Given the description of an element on the screen output the (x, y) to click on. 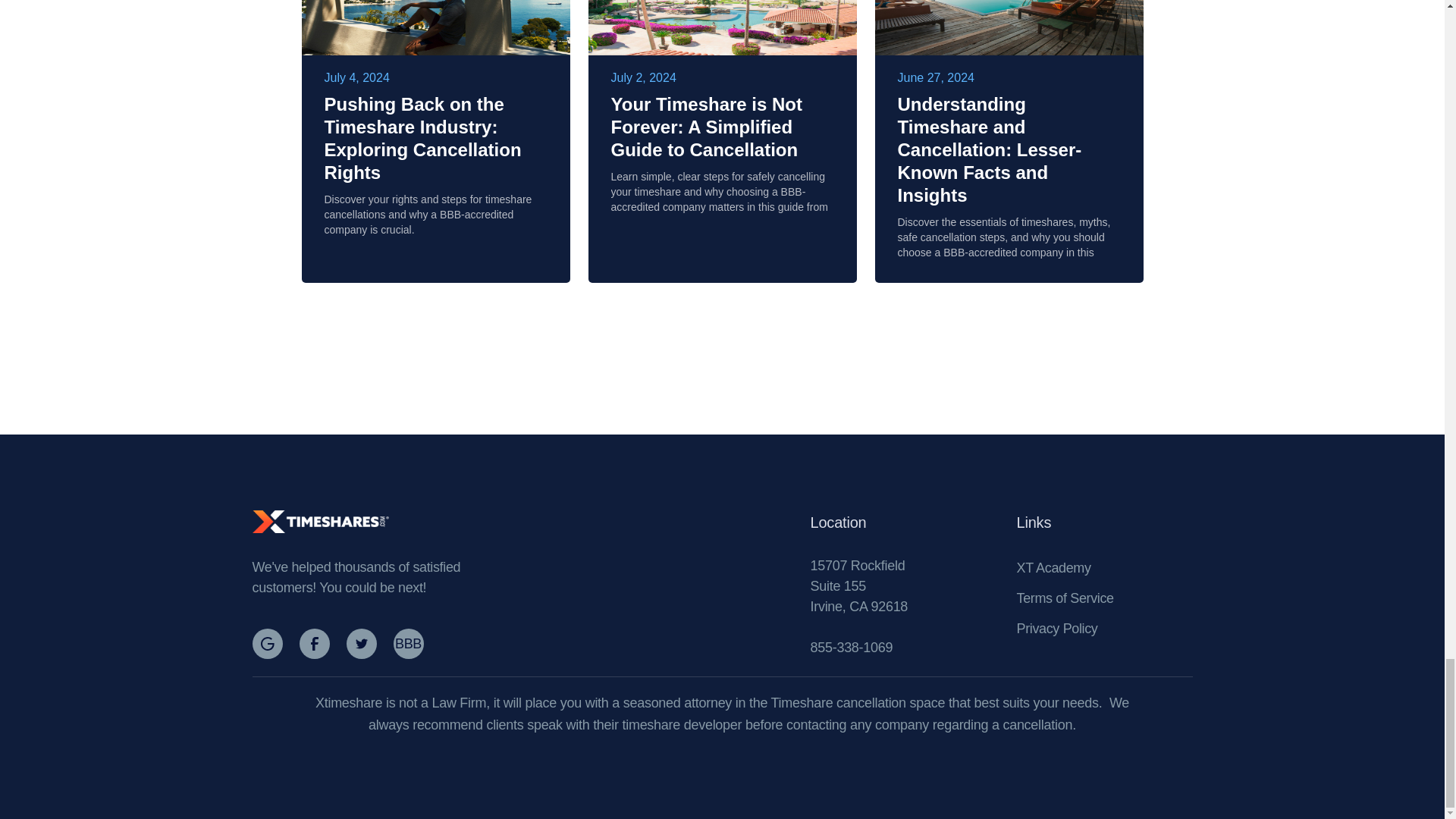
855-338-1069 (850, 647)
XT Academy (1053, 567)
Terms of Service (1064, 598)
BBB (413, 643)
Privacy Policy (1056, 628)
